Given the description of an element on the screen output the (x, y) to click on. 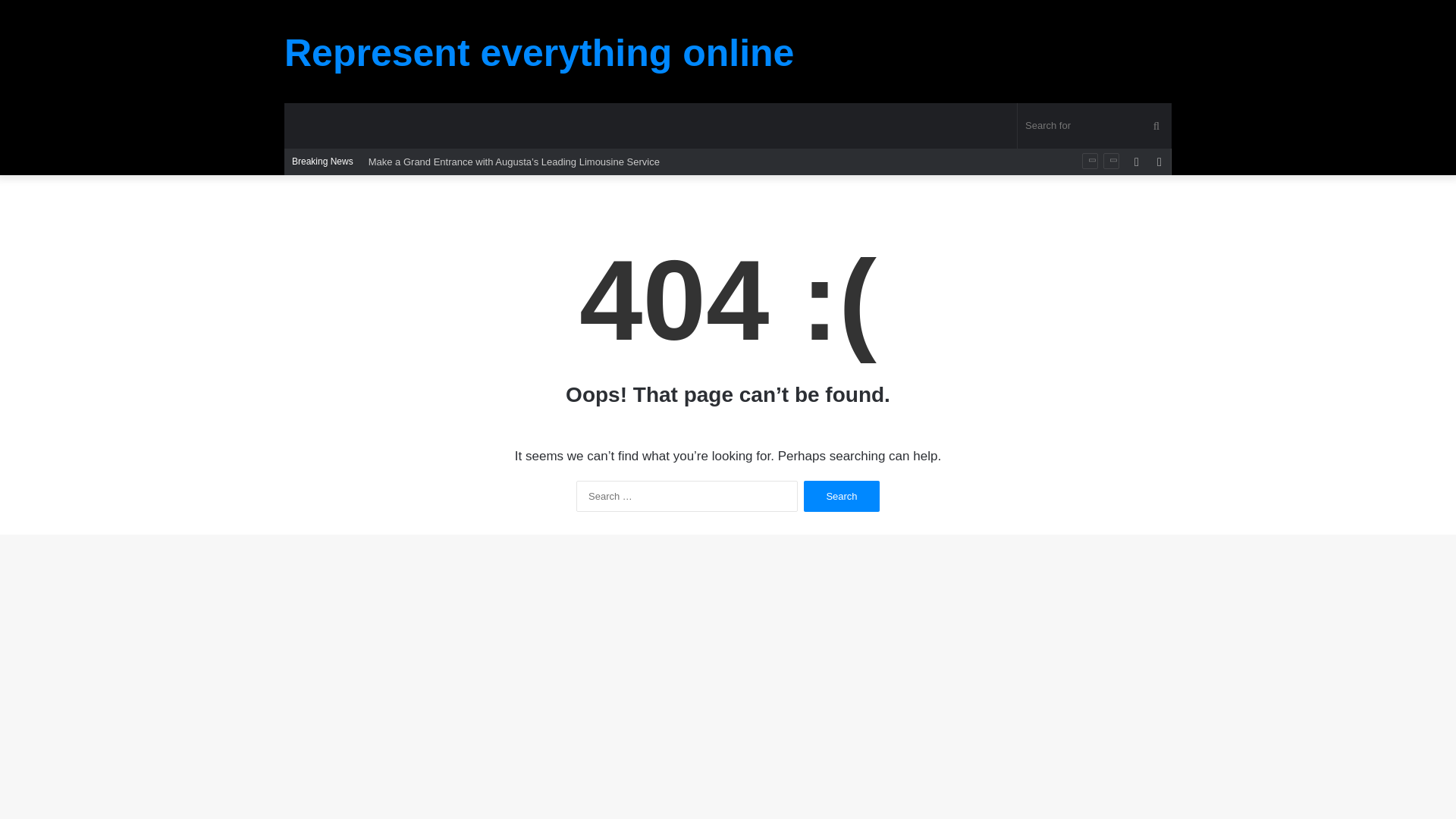
Search (841, 495)
Represent everything online (538, 53)
Search (841, 495)
Represent everything online (538, 53)
Search (841, 495)
Search for (1094, 125)
